Given the description of an element on the screen output the (x, y) to click on. 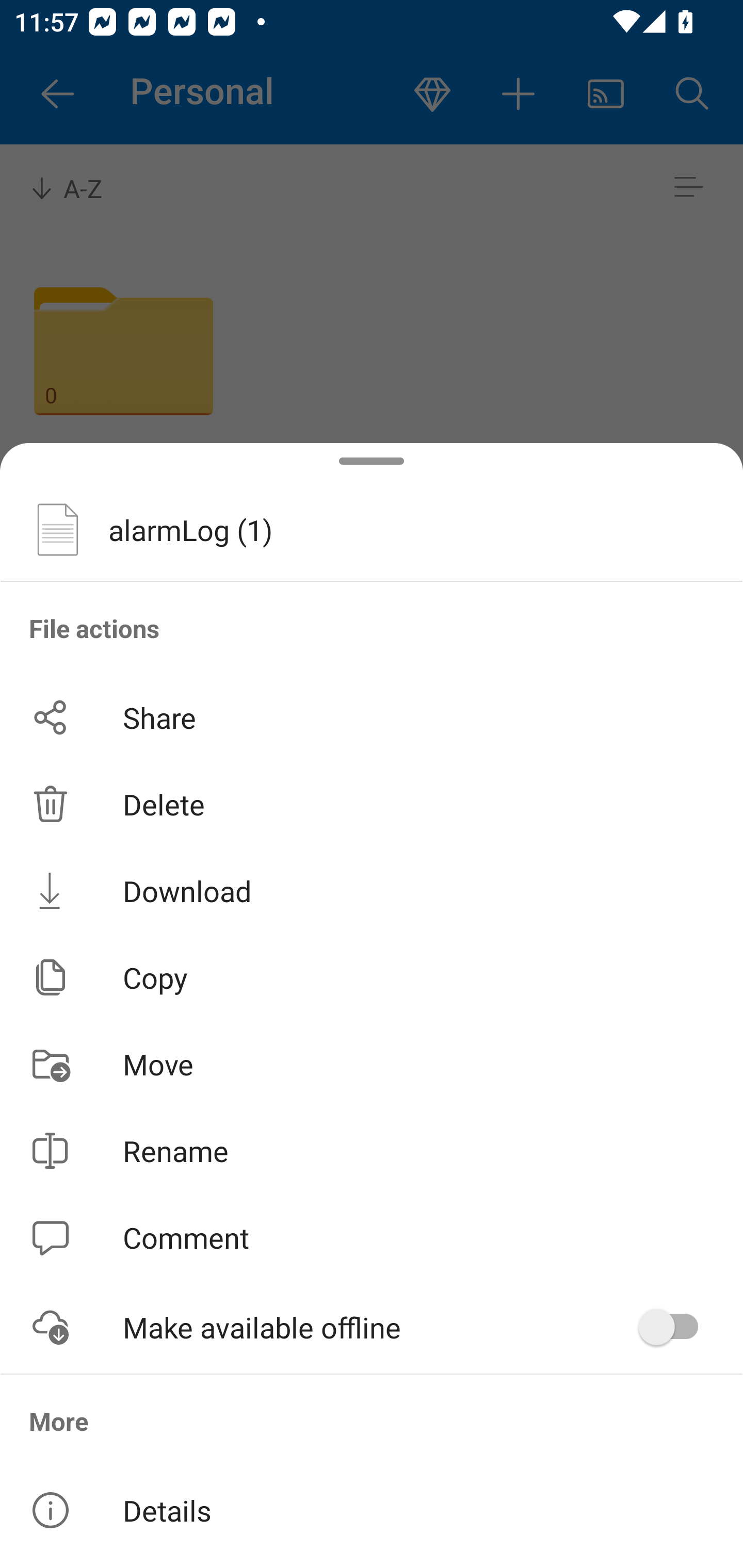
Share button Share (371, 717)
Delete button Delete (371, 803)
Download button Download (371, 890)
Copy button Copy (371, 977)
Move button Move (371, 1063)
Rename button Rename (371, 1150)
Comment button Comment (371, 1237)
Make offline operation (674, 1327)
Details button Details (371, 1510)
